Given the description of an element on the screen output the (x, y) to click on. 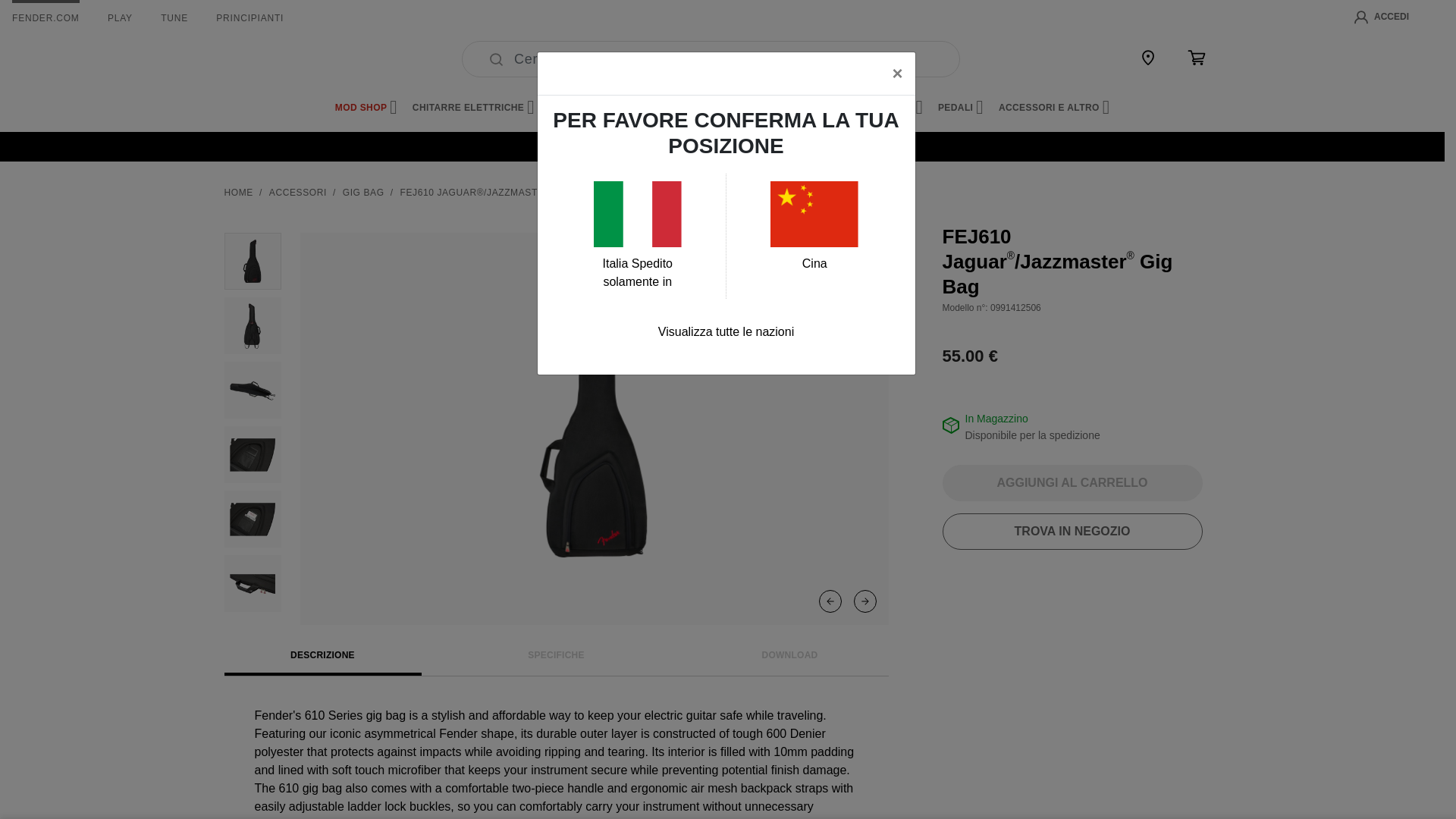
TUNE (173, 18)
Fender Home (261, 58)
CHITARRE ELETTRICHE (473, 107)
FENDER.COM (45, 18)
MOD SHOP (365, 107)
PRINCIPIANTI (249, 18)
PLAY (119, 18)
ACCEDI (1381, 17)
